Given the description of an element on the screen output the (x, y) to click on. 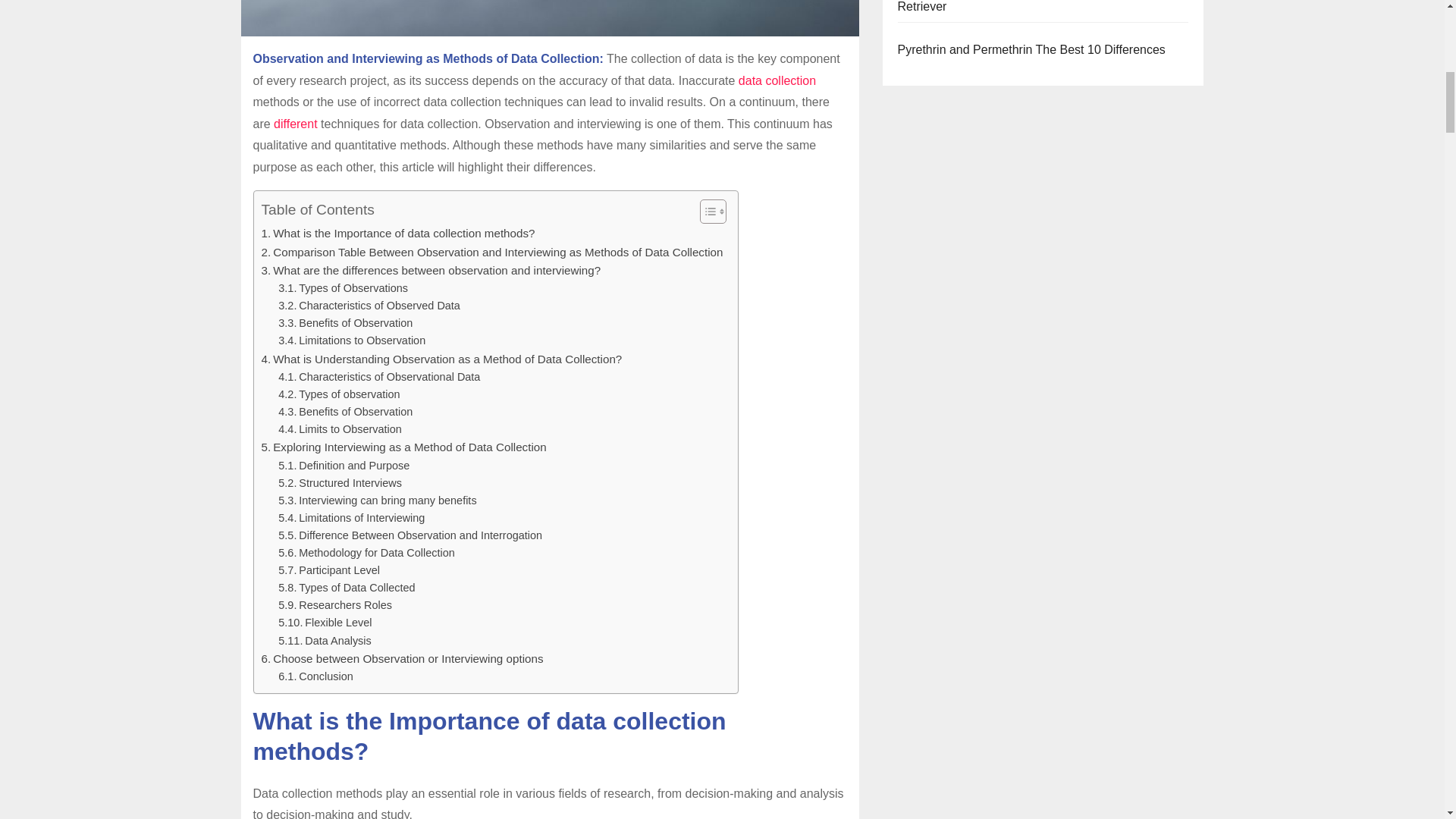
Characteristics of Observed Data (369, 305)
Characteristics of Observed Data (369, 305)
Types of Observations (342, 288)
Limits to Observation (339, 429)
Types of Observations (342, 288)
Benefits of Observation (345, 323)
Characteristics of Observational Data (379, 376)
different (295, 123)
What is the Importance of data collection methods? (397, 233)
Benefits of Observation (345, 411)
Exploring Interviewing as a Method of Data Collection (403, 447)
data collection (776, 80)
